Given the description of an element on the screen output the (x, y) to click on. 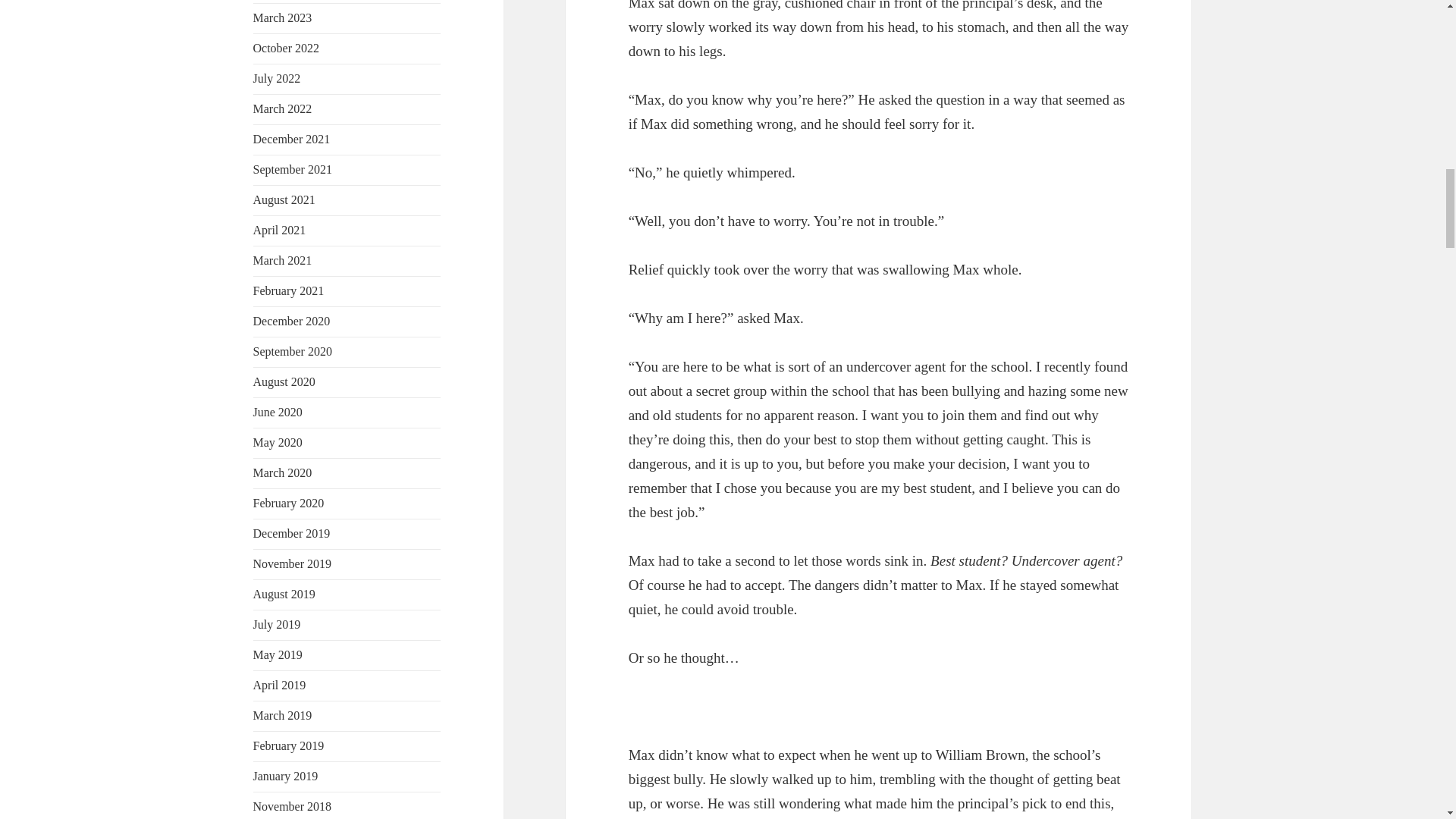
July 2022 (277, 78)
December 2021 (291, 138)
September 2021 (292, 169)
February 2021 (288, 290)
March 2022 (283, 108)
December 2020 (291, 320)
August 2021 (284, 199)
September 2020 (292, 350)
April 2021 (279, 229)
March 2021 (283, 259)
